Given the description of an element on the screen output the (x, y) to click on. 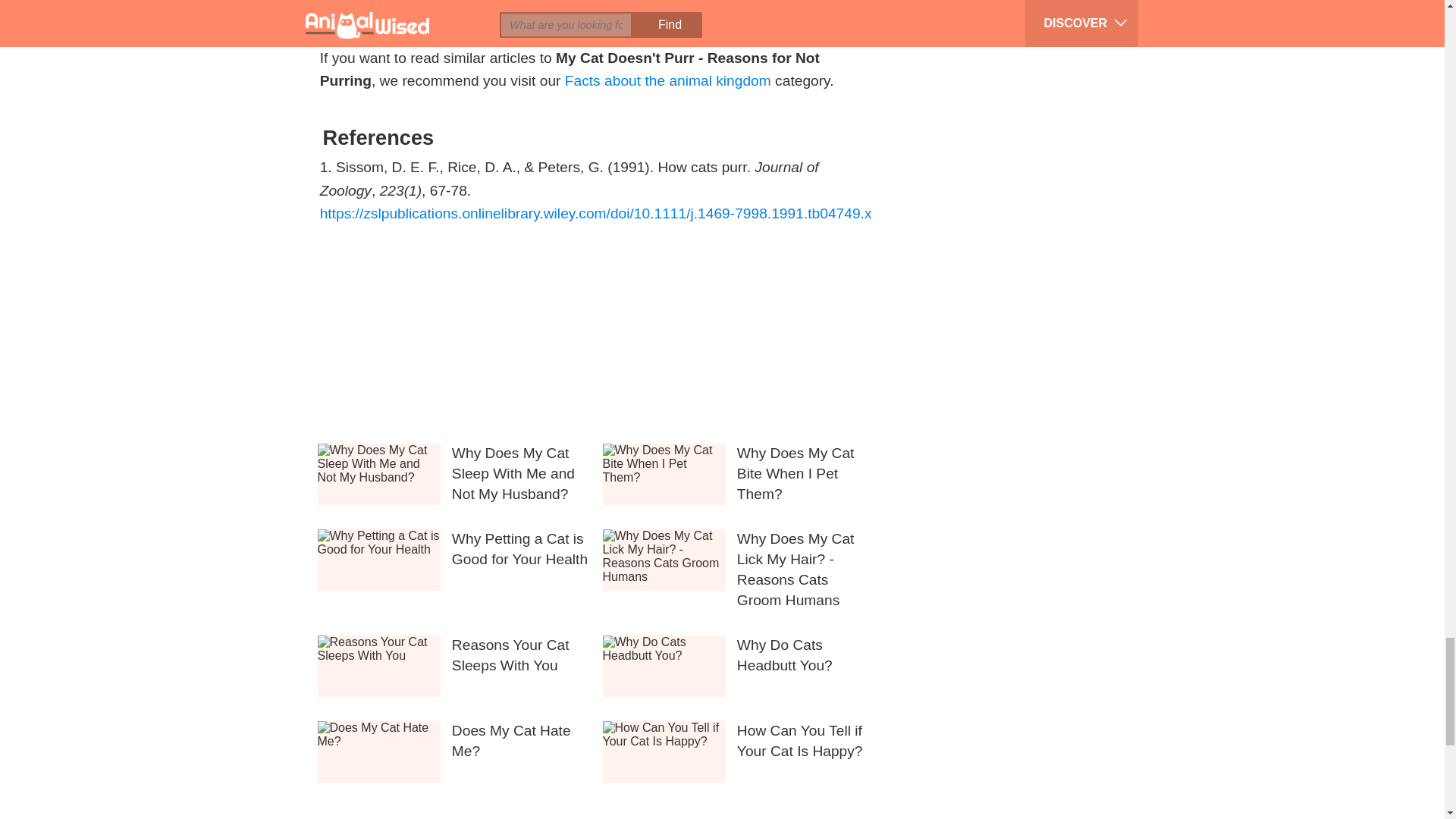
Facts about the animal kingdom (667, 80)
